Given the description of an element on the screen output the (x, y) to click on. 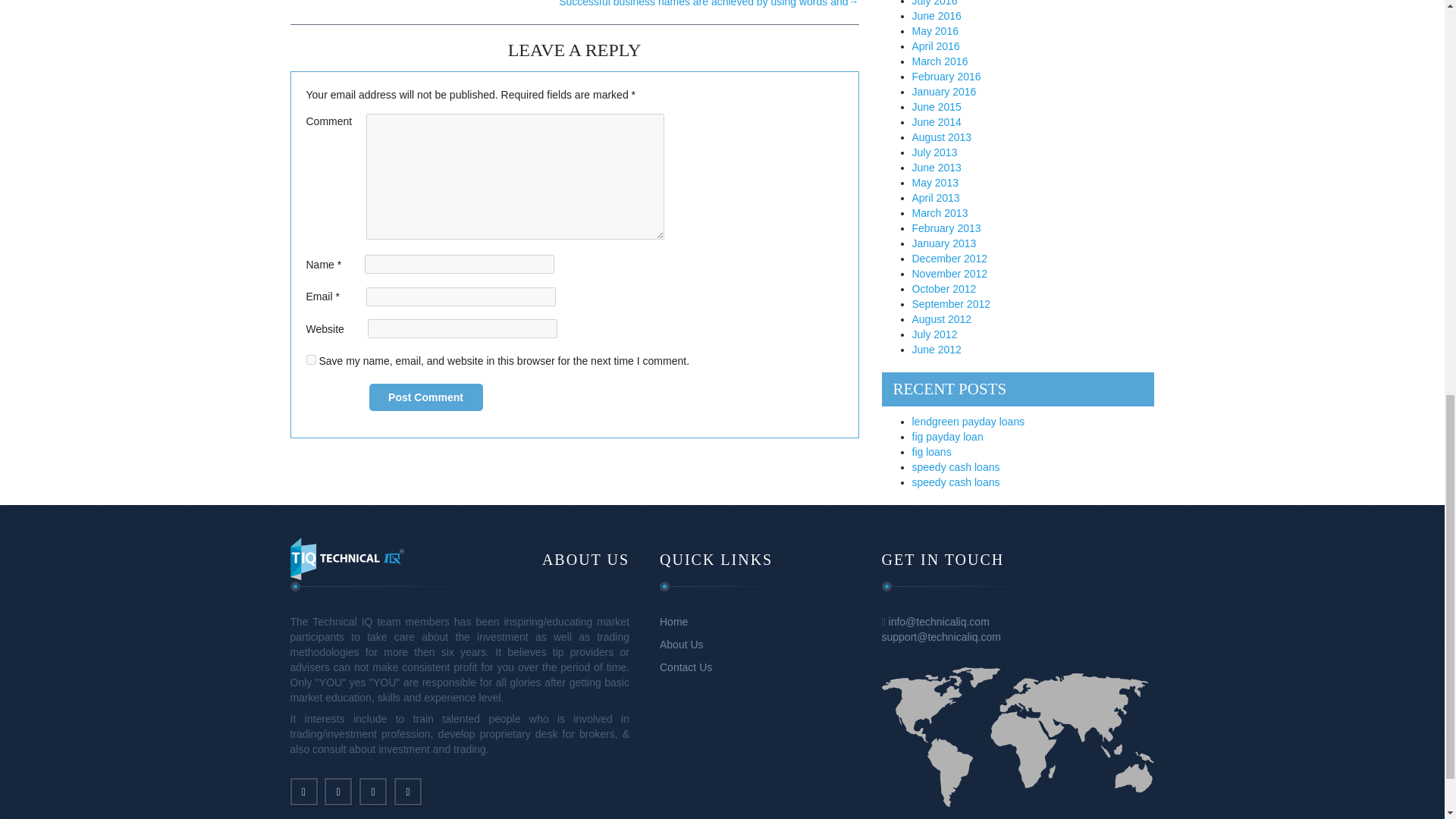
yes (310, 359)
Technical IQ (346, 558)
Post Comment (424, 397)
Post Comment (424, 397)
